Given the description of an element on the screen output the (x, y) to click on. 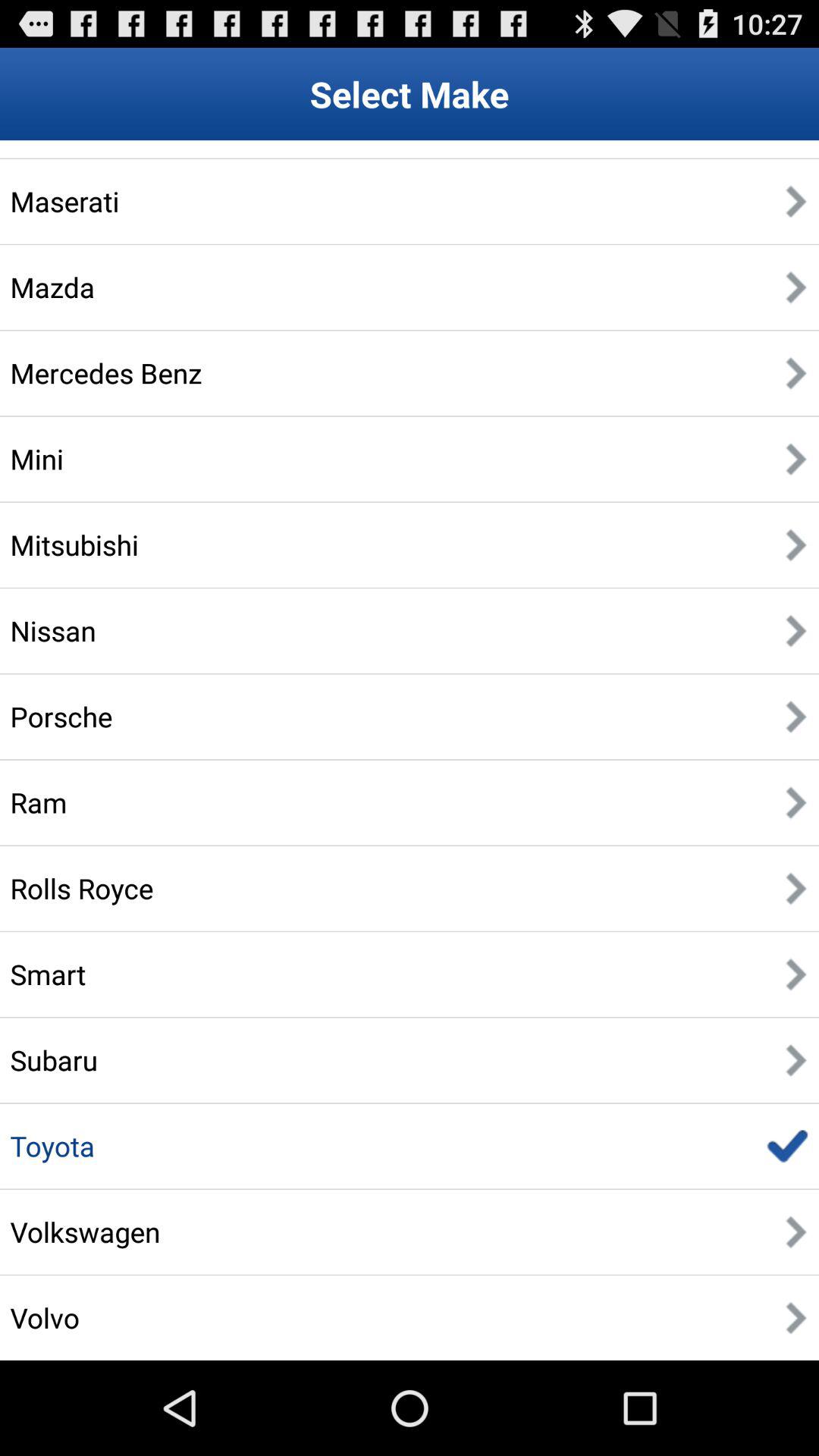
tap app below ram (81, 888)
